Given the description of an element on the screen output the (x, y) to click on. 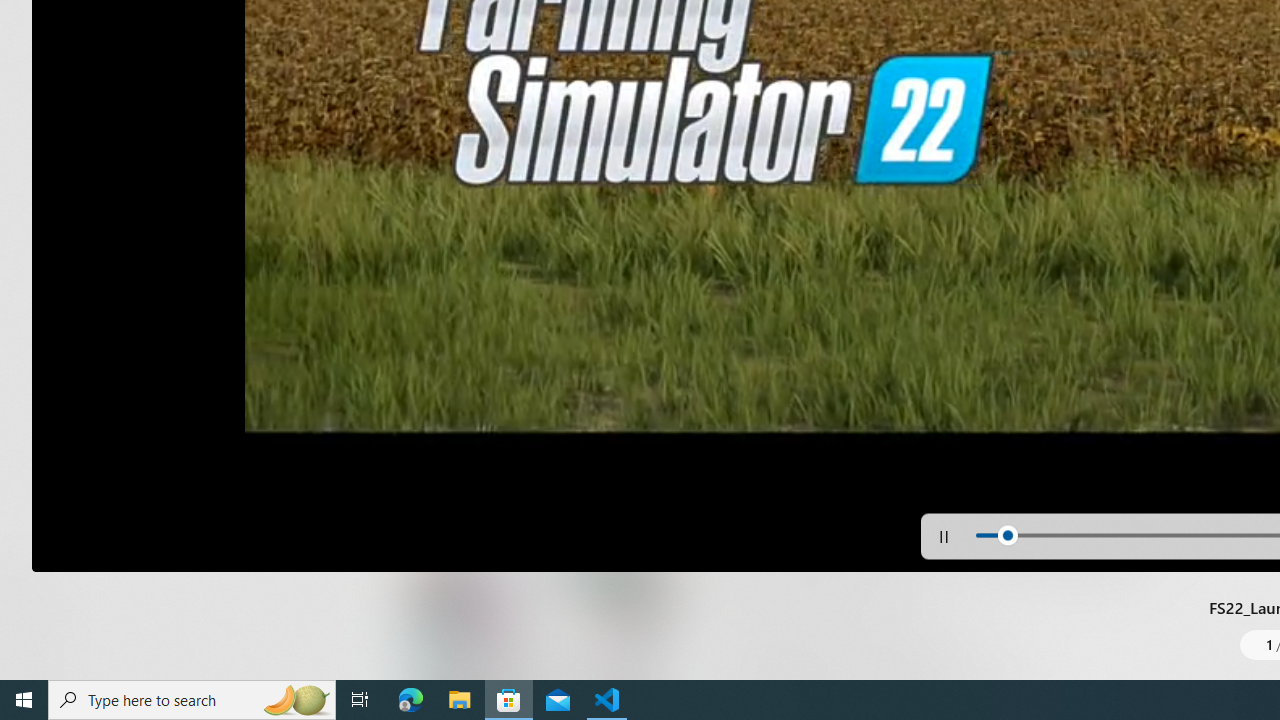
Play Trailer (505, 293)
Library (35, 640)
Play with Game Pass (767, 421)
Pause (943, 535)
2022 (667, 177)
Buy (1000, 421)
What's New (35, 578)
Age rating: EVERYONE. Click for more information. (945, 226)
Farming Simulator 22 PC, Edition selector (791, 352)
GIANTS Software GmbH (753, 177)
4.3 stars. Click to skip to ratings and reviews (689, 232)
